Given the description of an element on the screen output the (x, y) to click on. 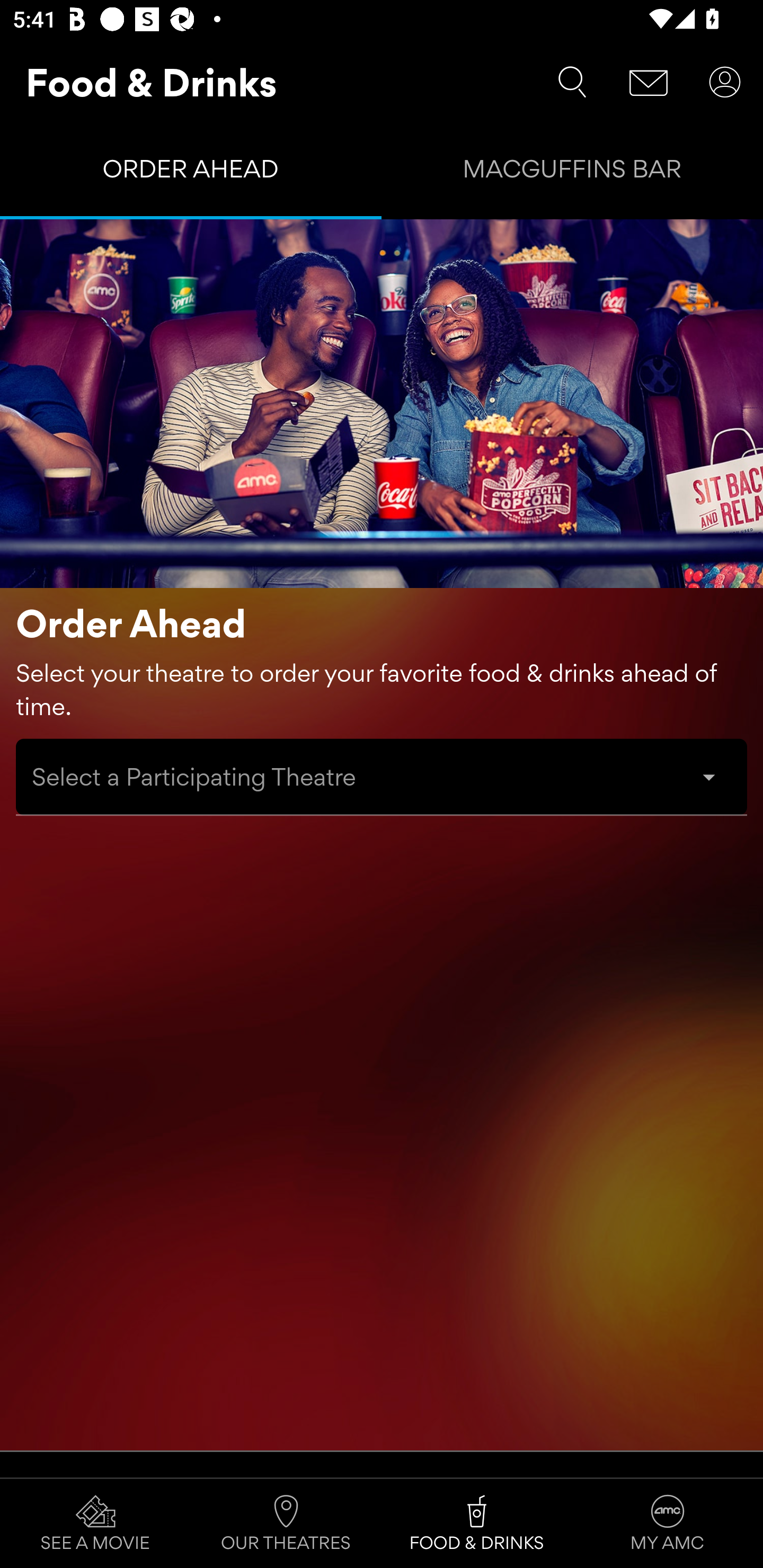
Search (572, 82)
Message Center (648, 82)
User Account (724, 82)
ORDER AHEAD
Tab 1 of 2 (190, 173)
MACGUFFINS BAR
Tab 2 of 2 (572, 173)
SEE A MOVIE
Tab 1 of 4 (95, 1523)
OUR THEATRES
Tab 2 of 4 (285, 1523)
FOOD & DRINKS
Tab 3 of 4 (476, 1523)
MY AMC
Tab 4 of 4 (667, 1523)
